Given the description of an element on the screen output the (x, y) to click on. 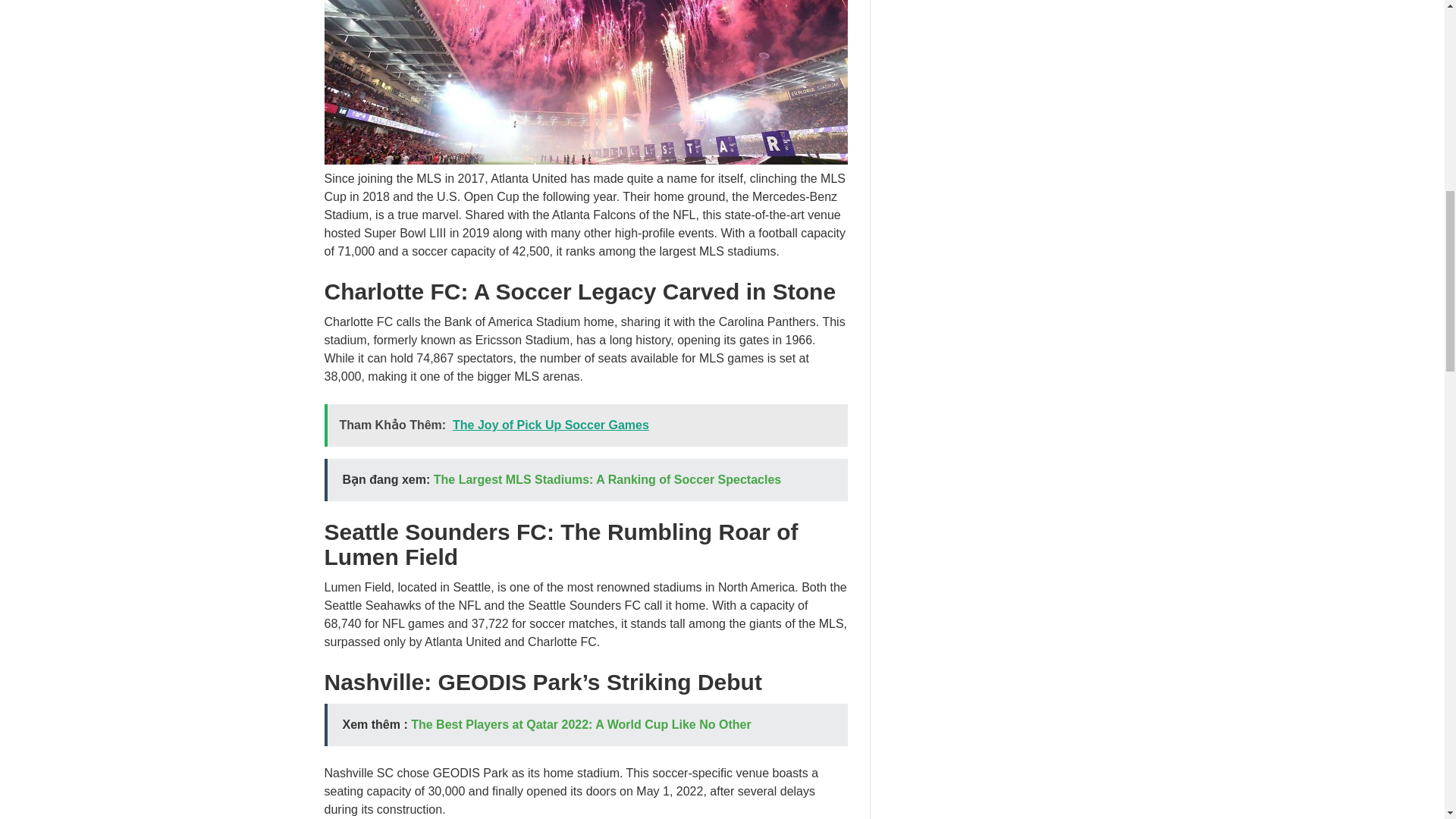
The Largest MLS Stadiums: A Ranking of Soccer Spectacles (606, 479)
The Best Players at Qatar 2022: A World Cup Like No Other (580, 724)
